Given the description of an element on the screen output the (x, y) to click on. 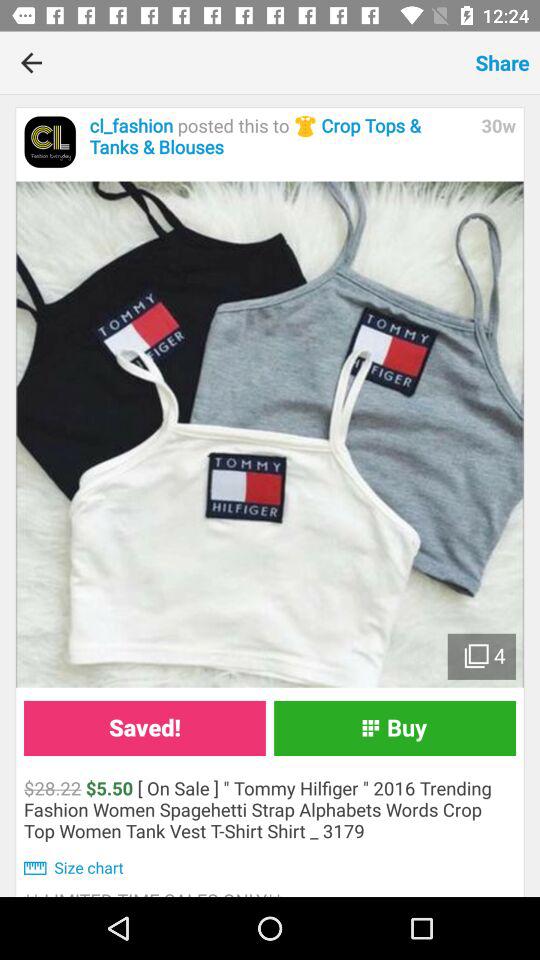
click on the green color button (394, 728)
